Given the description of an element on the screen output the (x, y) to click on. 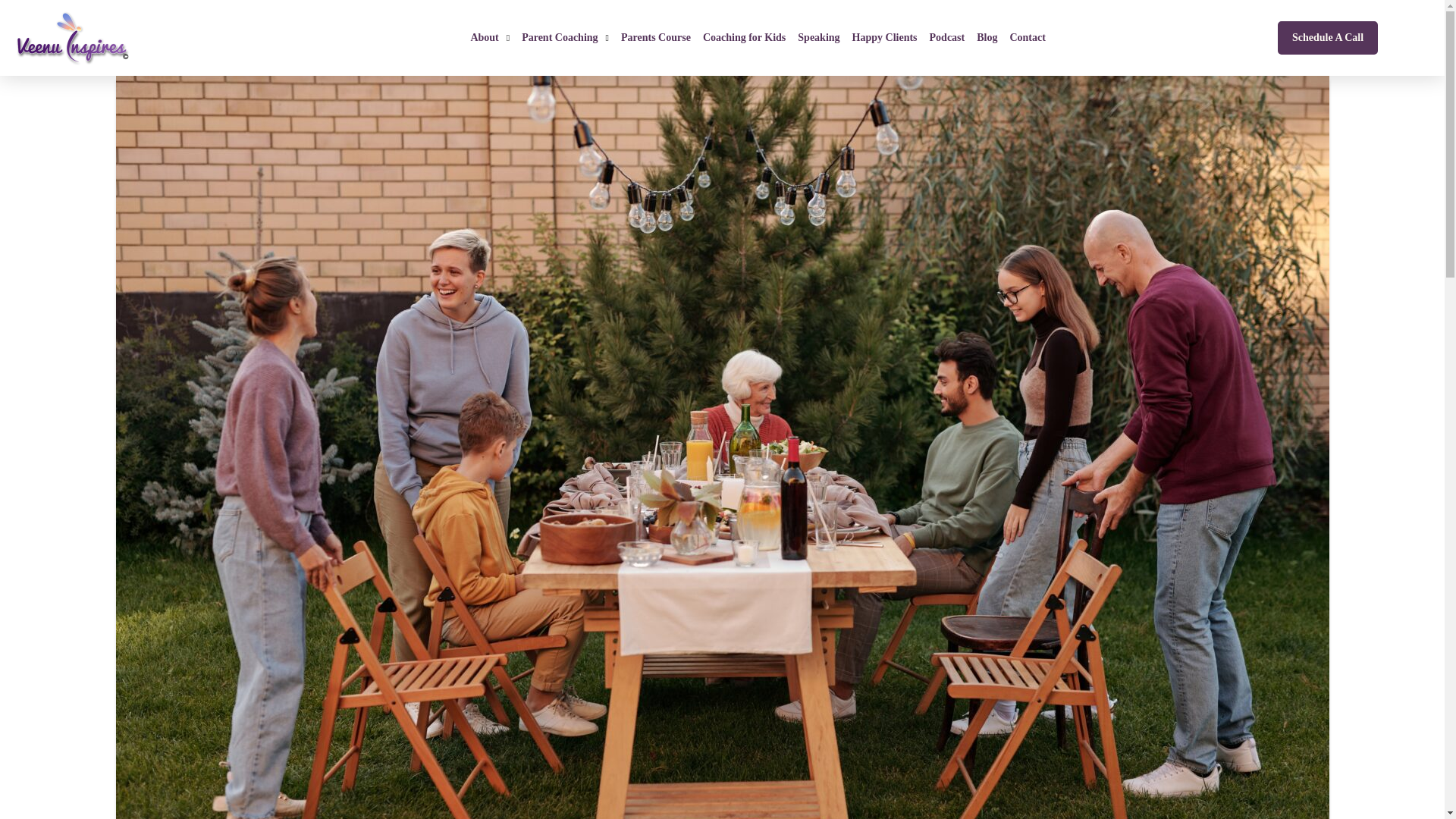
Coaching for Kids (744, 37)
Blog (987, 37)
Parent Coaching (564, 37)
Contact (1027, 37)
Speaking (818, 37)
Parents Course (655, 37)
Schedule A Call (1327, 37)
About (489, 37)
Podcast (947, 37)
Happy Clients (884, 37)
